Given the description of an element on the screen output the (x, y) to click on. 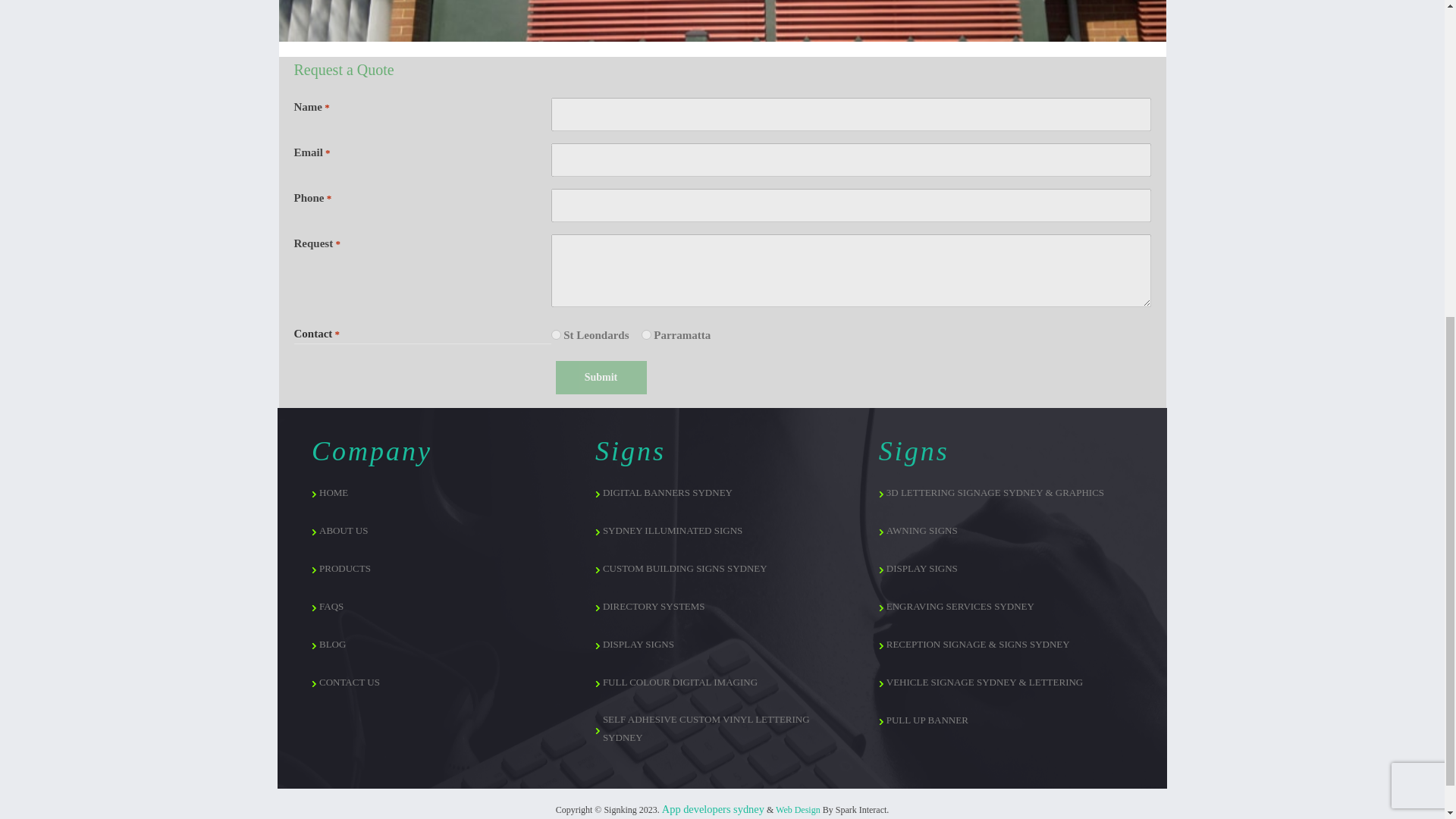
CUSTOM BUILDING SIGNS SYDNEY (721, 568)
Web Design (798, 809)
AWNING SIGNS (1005, 530)
DIRECTORY SYSTEMS (721, 606)
Submit (600, 377)
FULL COLOUR DIGITAL IMAGING (721, 682)
PULL UP BANNER (1005, 720)
SYDNEY ILLUMINATED SIGNS (721, 530)
CONTACT US (437, 682)
St Leondards (555, 334)
DISPLAY SIGNS (1005, 568)
SELF ADHESIVE CUSTOM VINYL LETTERING SYDNEY (721, 728)
DISPLAY SIGNS (721, 644)
DIGITAL BANNERS SYDNEY (721, 493)
HOME (437, 493)
